Given the description of an element on the screen output the (x, y) to click on. 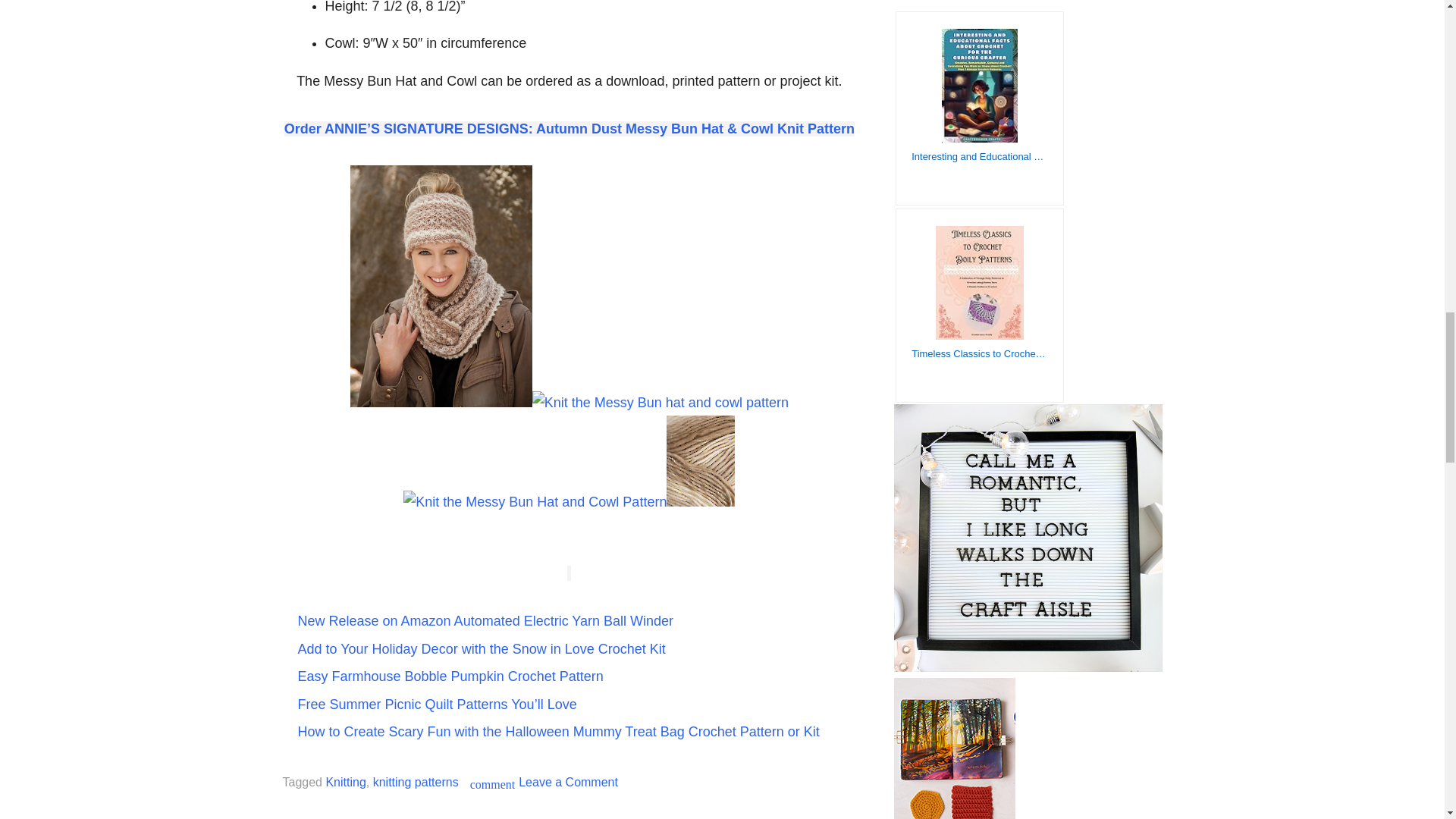
Easy Farmhouse Bobble Pumpkin Crochet Pattern (449, 676)
Add to Your Holiday Decor with the Snow in Love Crochet Kit (481, 648)
knitting patterns (415, 781)
Knitting (344, 781)
New Release on Amazon Automated Electric Yarn Ball Winder (484, 620)
